Given the description of an element on the screen output the (x, y) to click on. 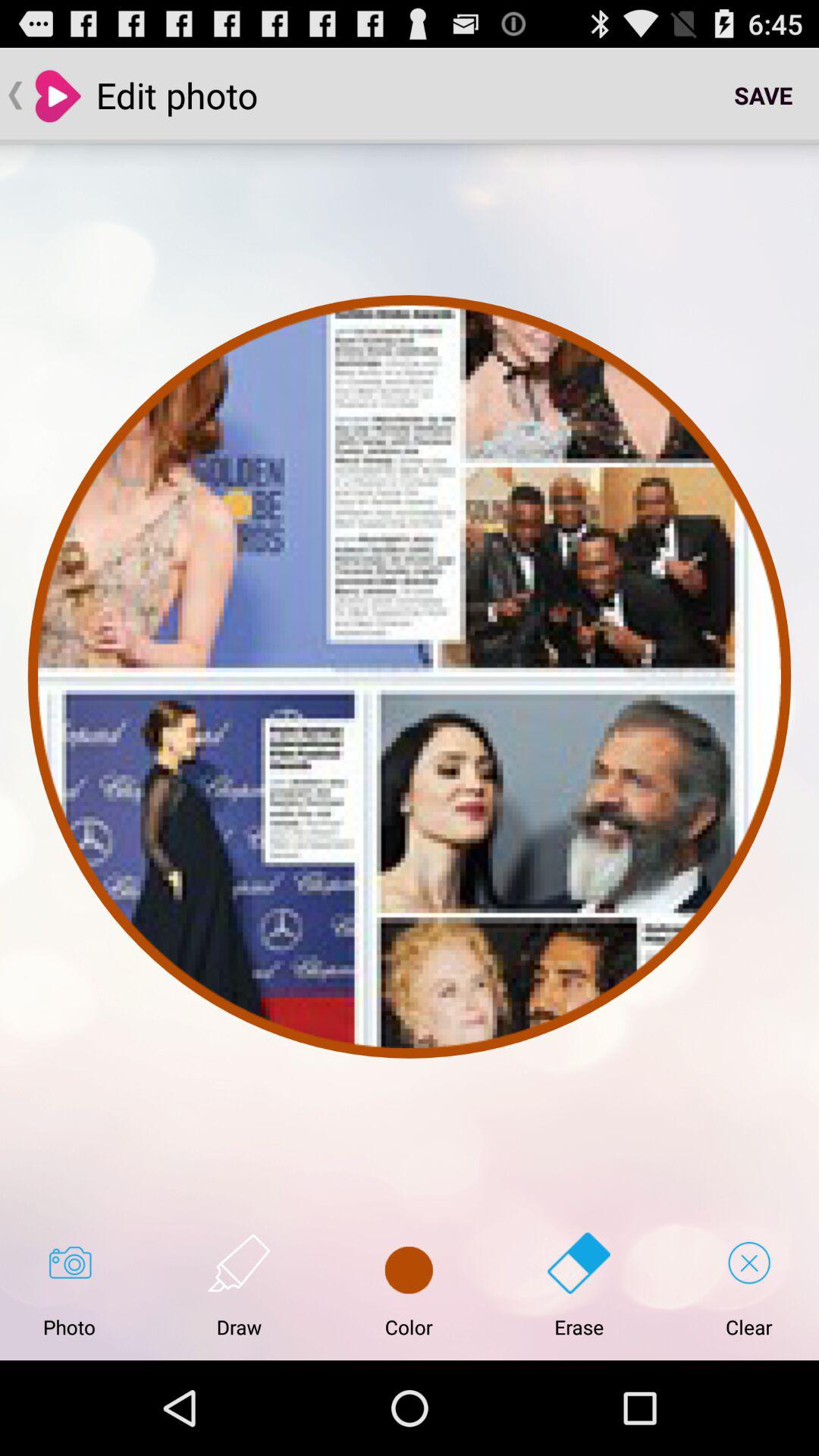
open the icon to the right of draw button (408, 1285)
